Given the description of an element on the screen output the (x, y) to click on. 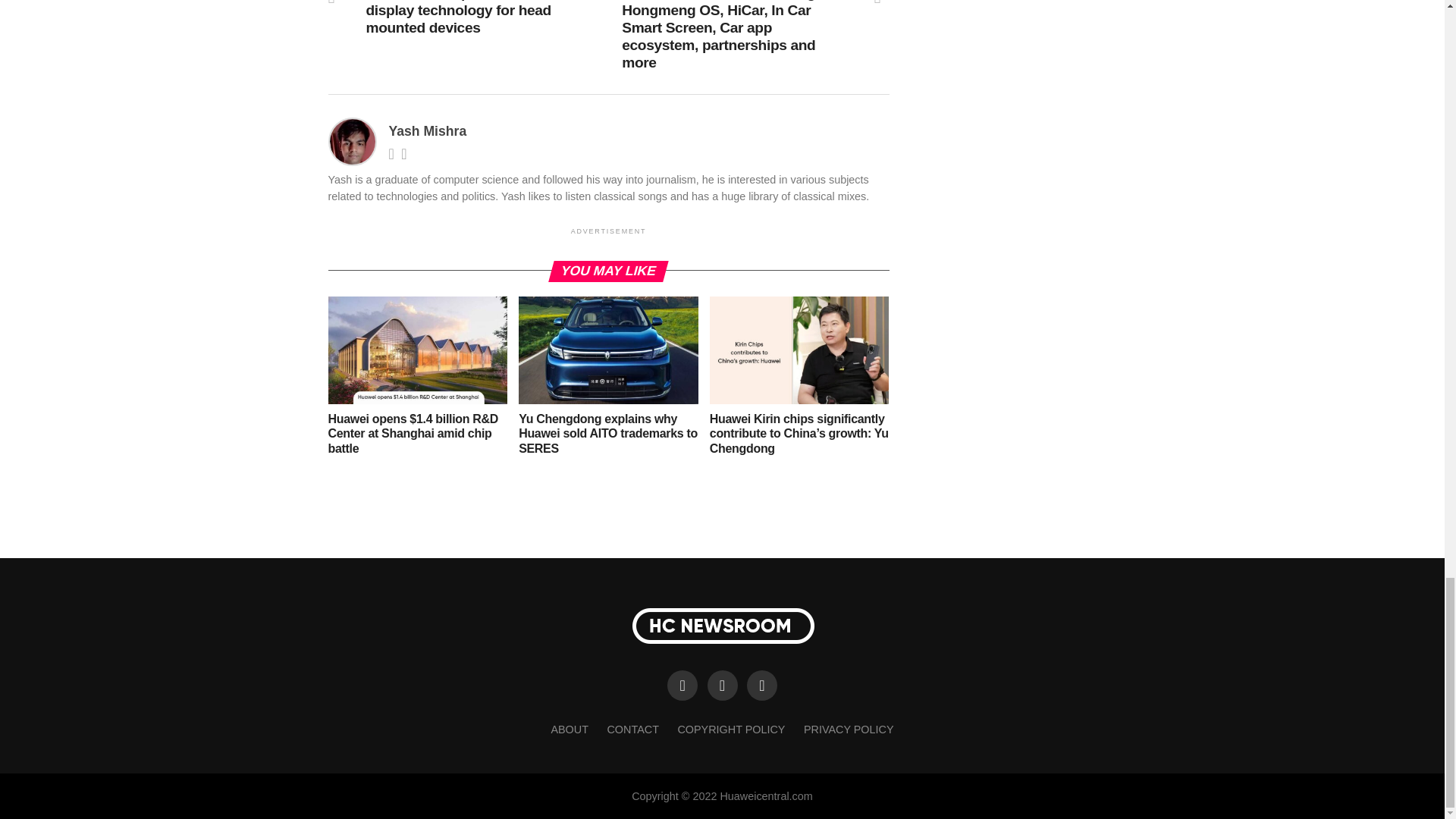
Posts by Yash Mishra (426, 130)
